Given the description of an element on the screen output the (x, y) to click on. 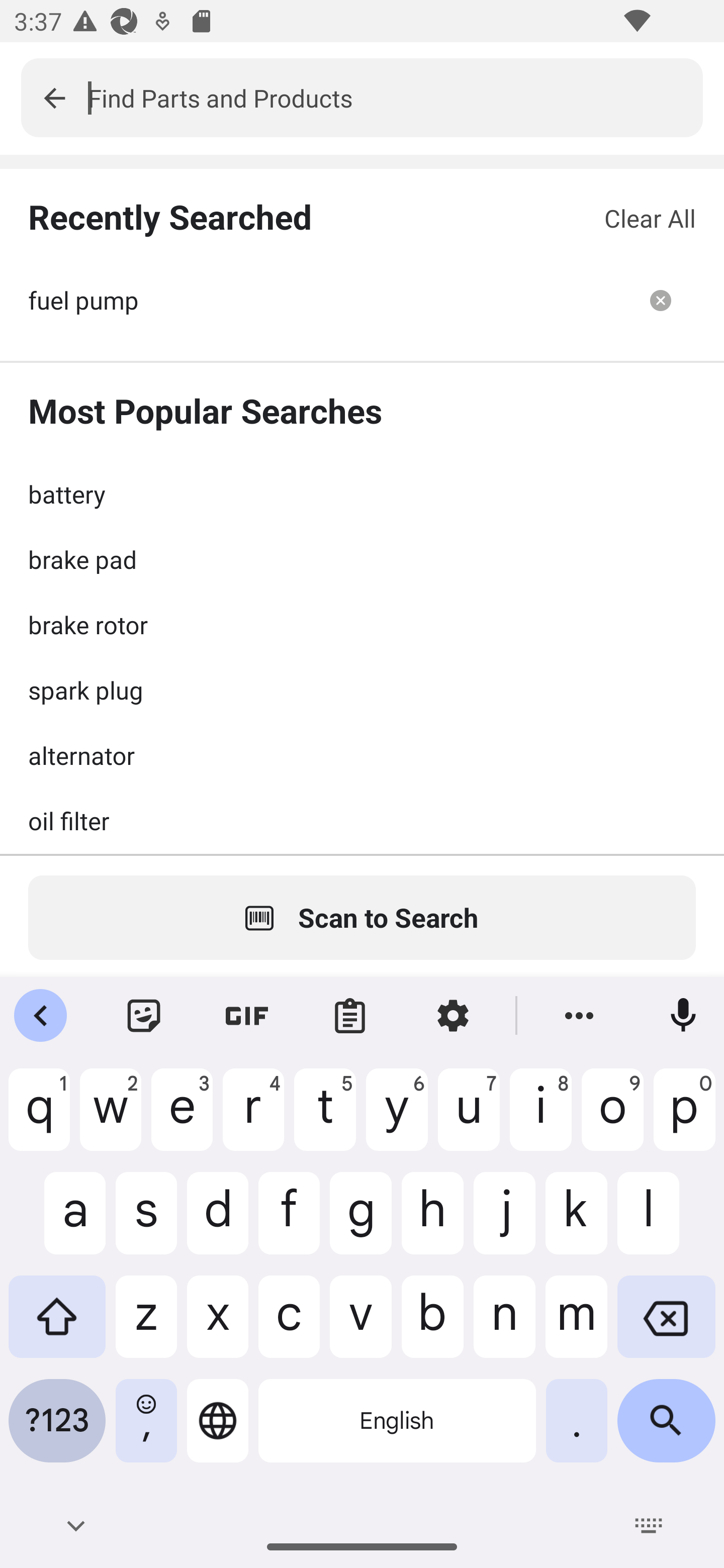
 (54, 97)
Find Parts and Products Text input field (395, 97)
Clear all Recently Searched items Clear All (649, 217)
fuel pump (326, 300)
Remove item fuel pump from Recently Searched  (660, 300)
battery (361, 493)
brake pad (361, 558)
brake rotor (361, 624)
spark plug (361, 689)
alternator (361, 754)
oil filter (361, 820)
